Given the description of an element on the screen output the (x, y) to click on. 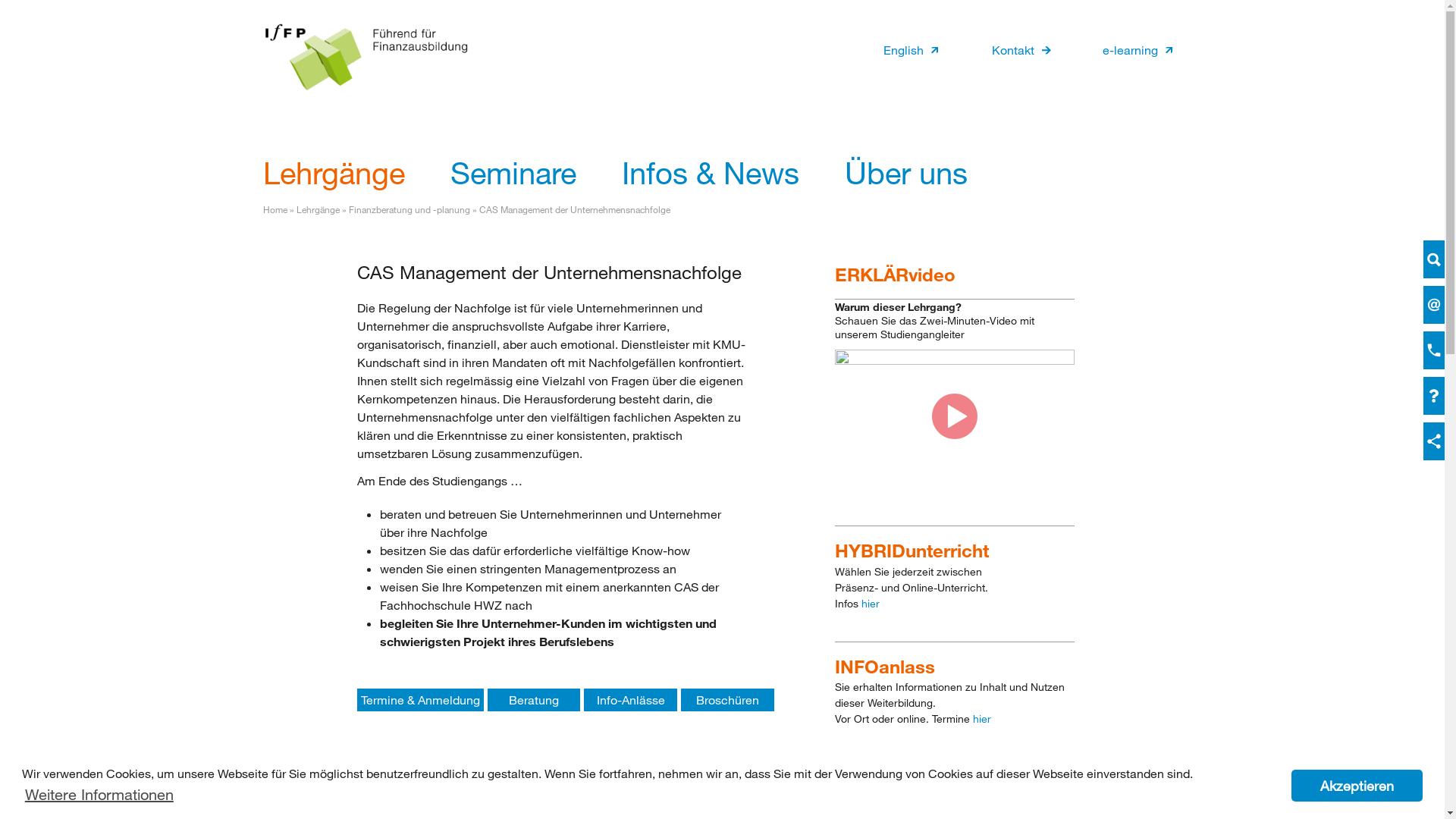
Home Element type: hover (365, 56)
Seminare Element type: text (513, 171)
Kurzbeschrieb Element type: text (570, 789)
hier Element type: text (870, 602)
Home Element type: text (274, 209)
e-learning Element type: text (1122, 49)
English Element type: text (902, 49)
Weitere Informationen Element type: text (98, 794)
Termine & Anmeldung Element type: text (419, 699)
Akzeptieren Element type: text (1356, 785)
Infos & News Element type: text (710, 171)
Beratung Element type: text (533, 699)
Kontakt Element type: text (1005, 49)
hier Element type: text (981, 718)
